Given the description of an element on the screen output the (x, y) to click on. 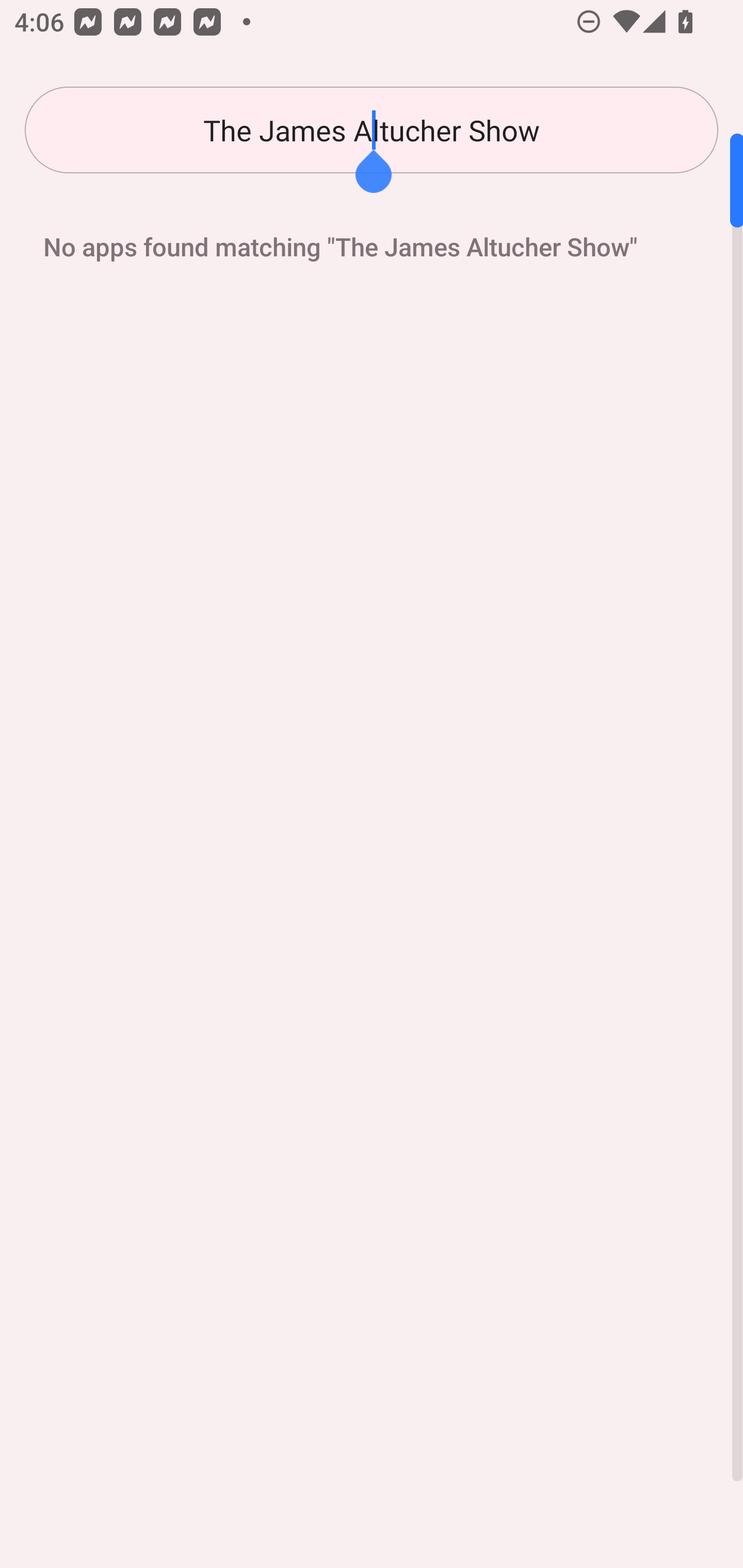
The James Altucher Show (371, 130)
